Given the description of an element on the screen output the (x, y) to click on. 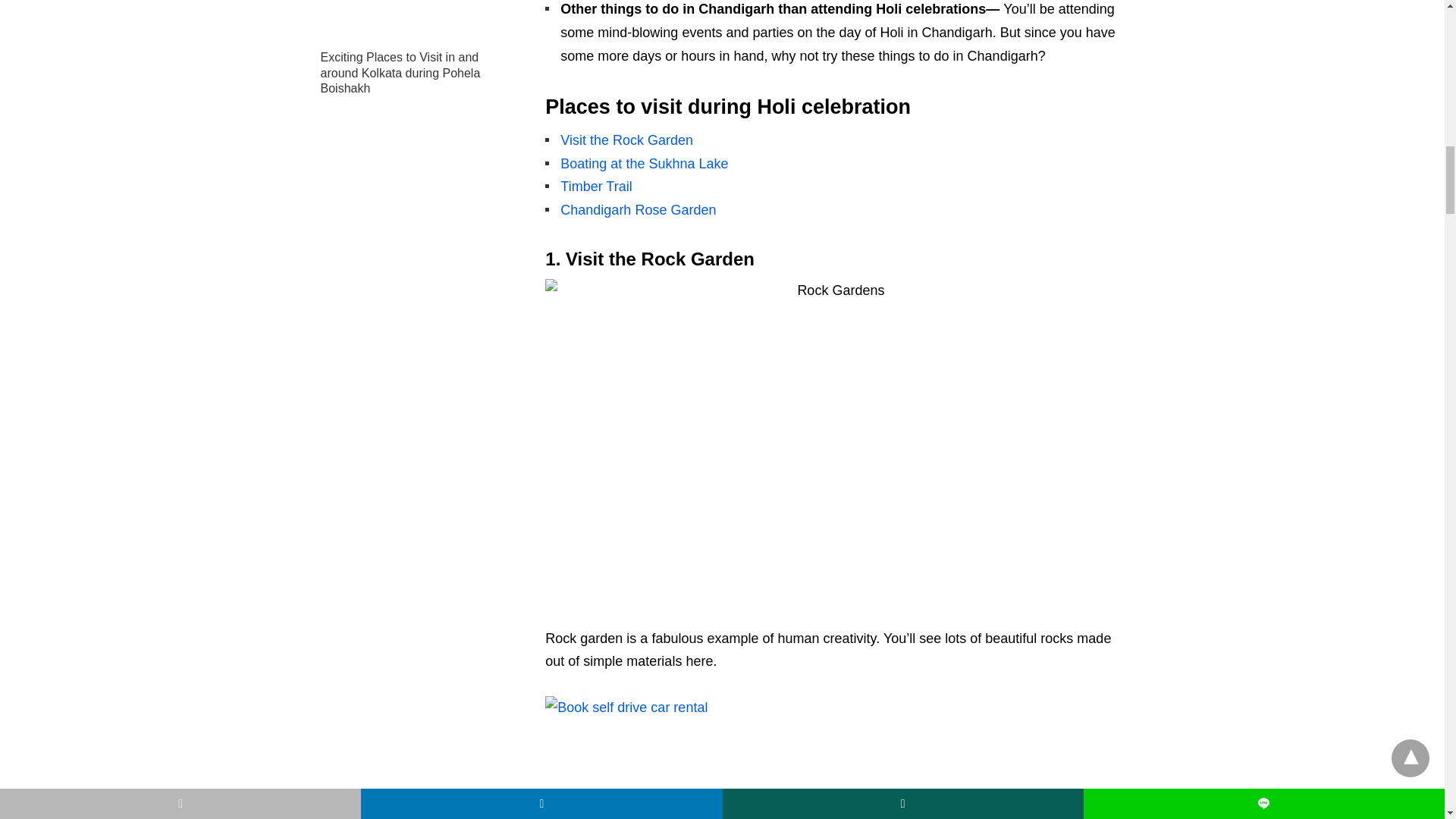
Boating at the Sukhna Lake (644, 163)
Visit the Rock Garden (626, 140)
